Given the description of an element on the screen output the (x, y) to click on. 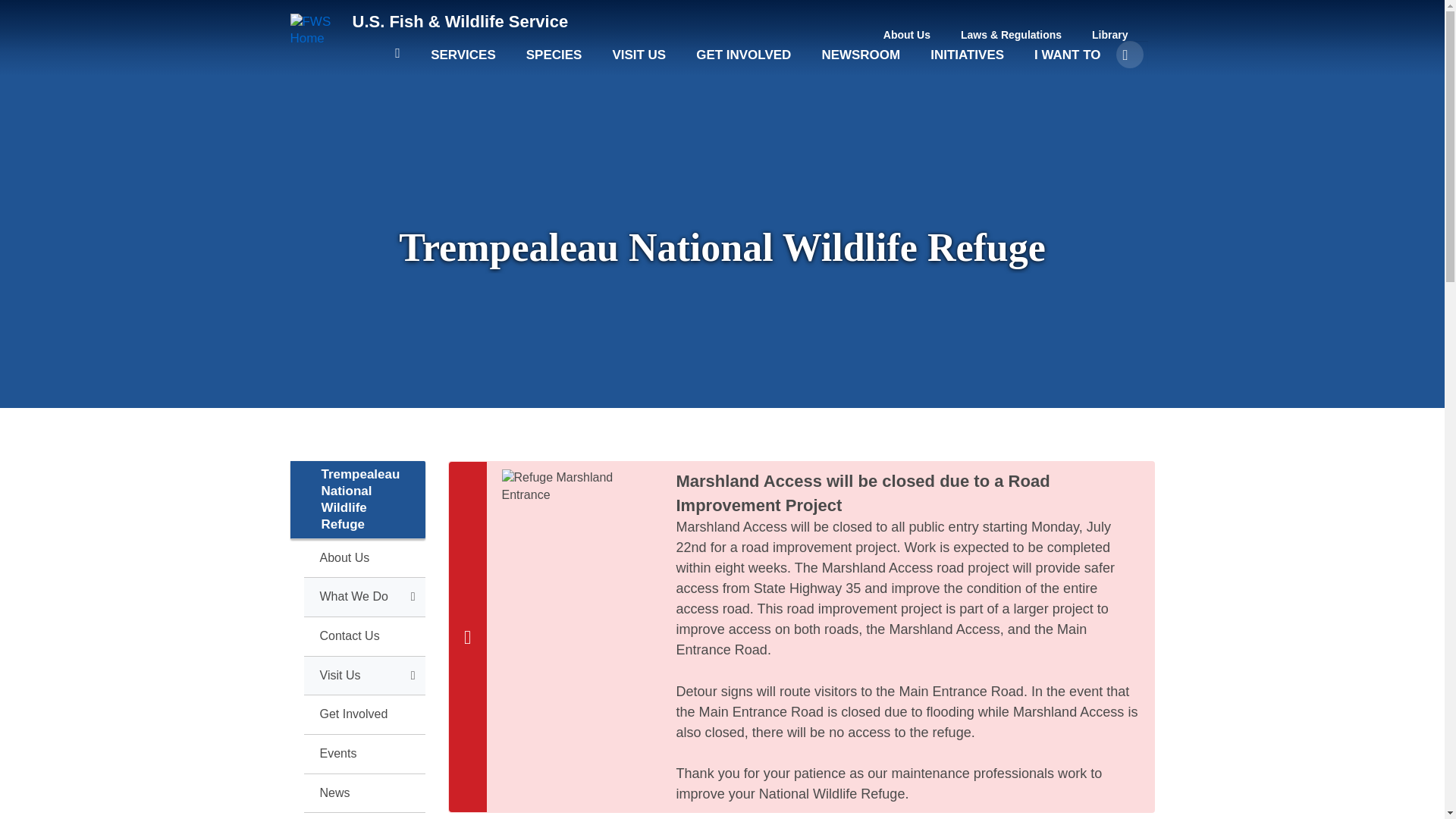
FWS Home (459, 21)
Library (1109, 34)
About Us (906, 34)
SERVICES (463, 62)
FWS Home (314, 29)
Access services provided by FWS (463, 62)
